Given the description of an element on the screen output the (x, y) to click on. 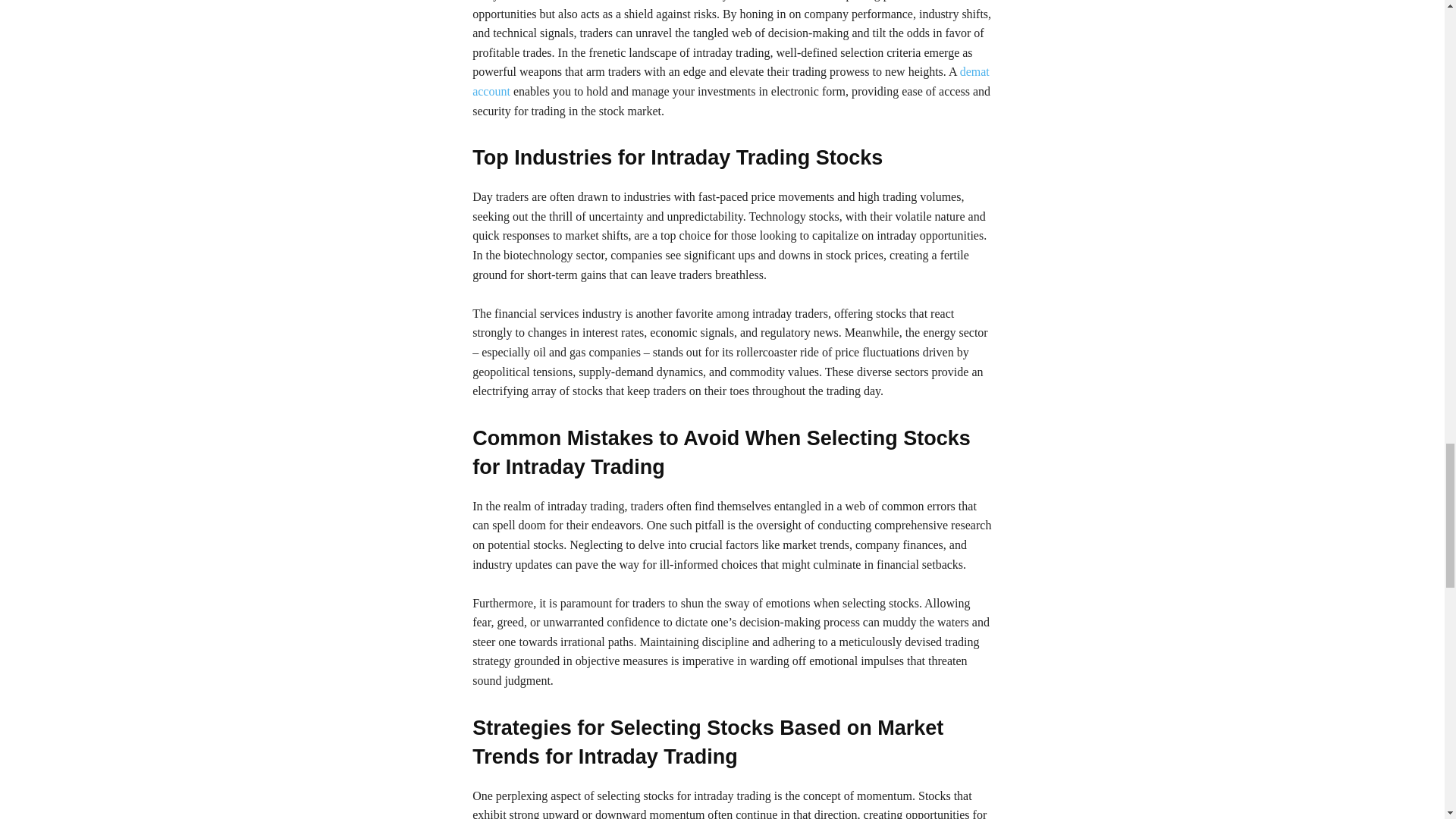
demat account (730, 81)
